Given the description of an element on the screen output the (x, y) to click on. 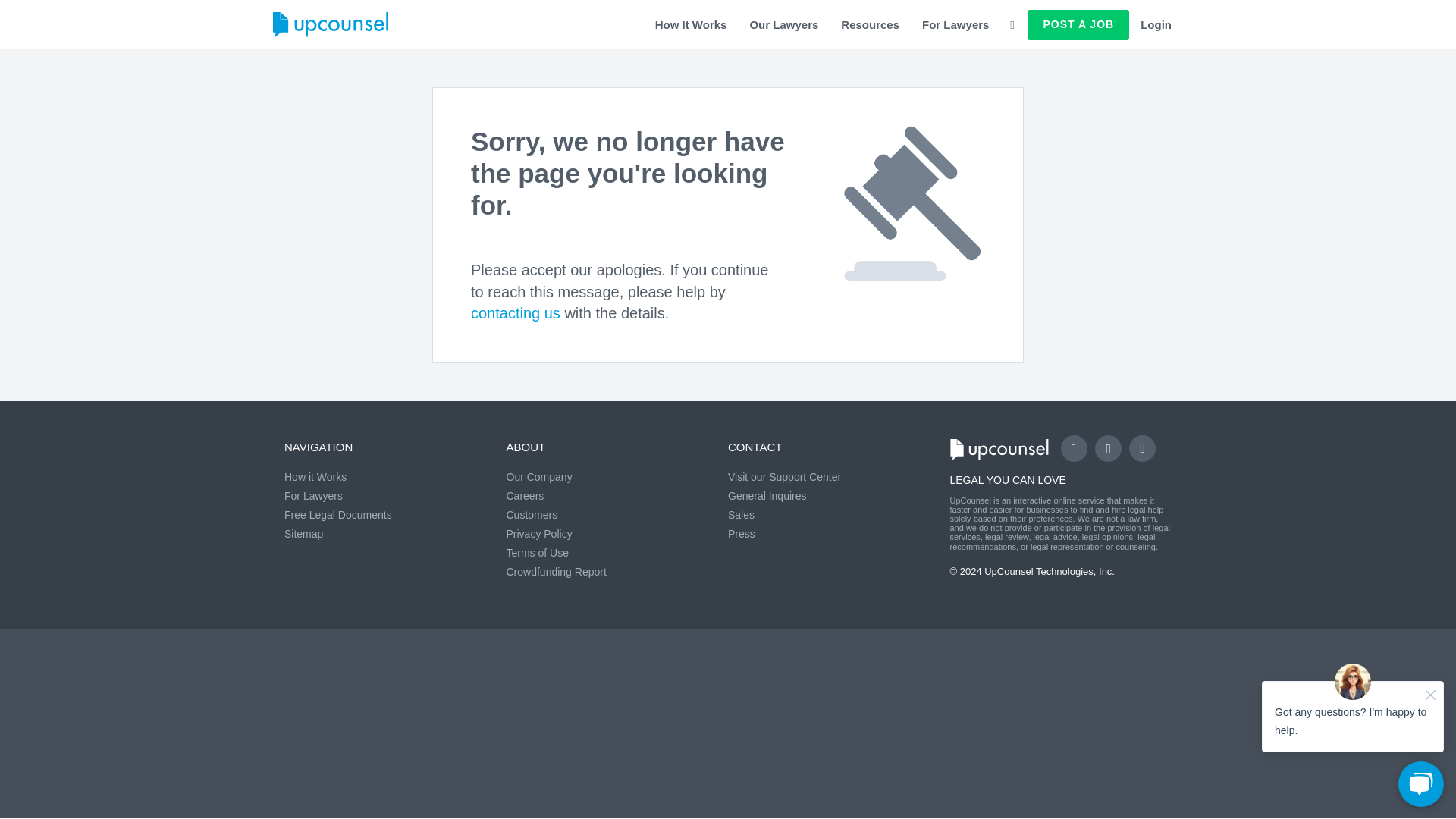
Like us on Facebook (1074, 447)
Connect with us on LinkedIn (1142, 447)
Our Lawyers (783, 24)
contacting us (515, 312)
How It Works (690, 24)
Sitemap (303, 533)
Resources (870, 24)
Login (1155, 24)
For Lawyers (955, 24)
Follow us on Twitter (1107, 447)
